Given the description of an element on the screen output the (x, y) to click on. 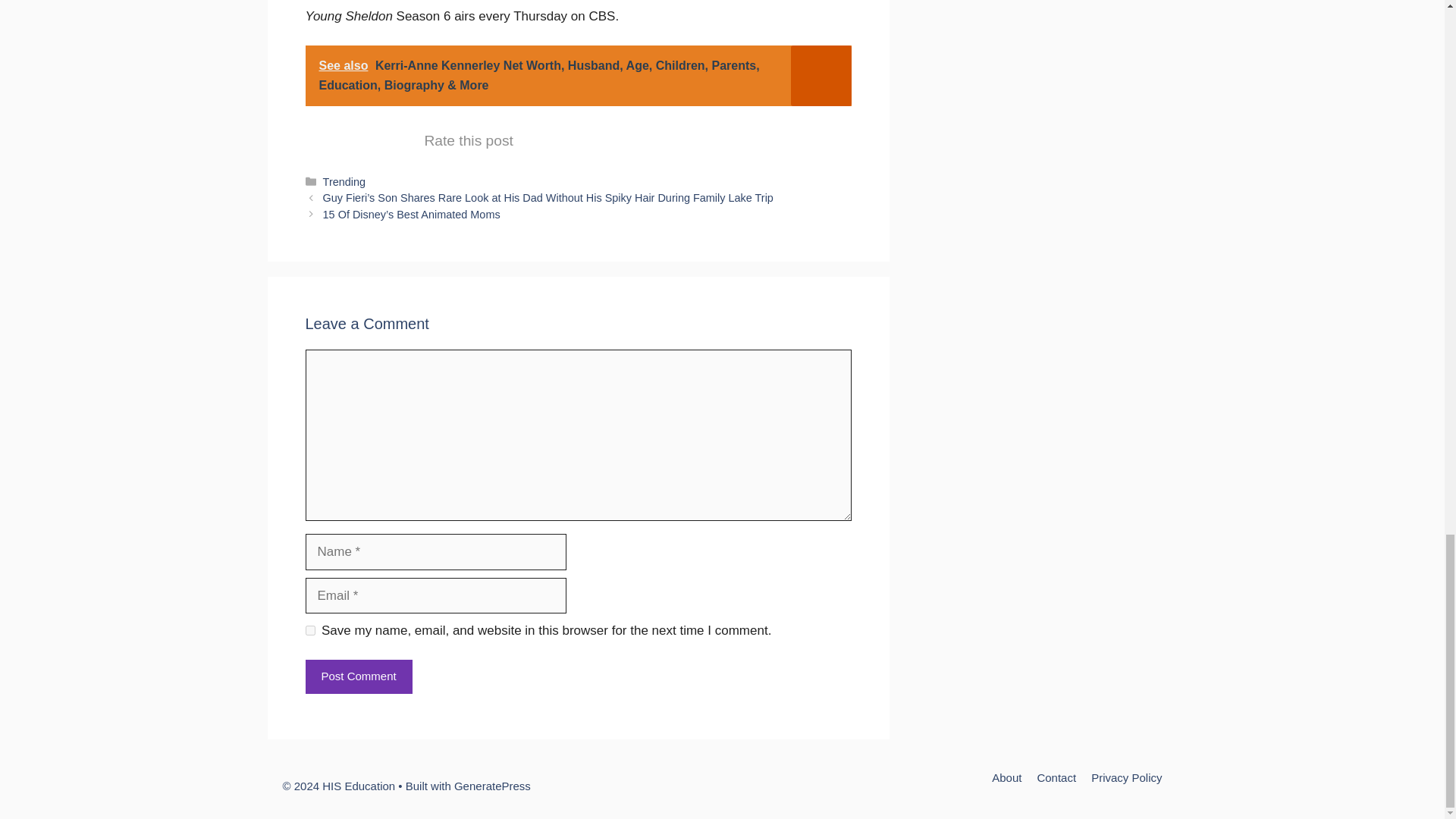
Contact (1055, 777)
Post Comment (358, 676)
Privacy Policy (1125, 777)
yes (309, 630)
GeneratePress (492, 785)
Trending (344, 182)
Post Comment (358, 676)
About (1006, 777)
